Given the description of an element on the screen output the (x, y) to click on. 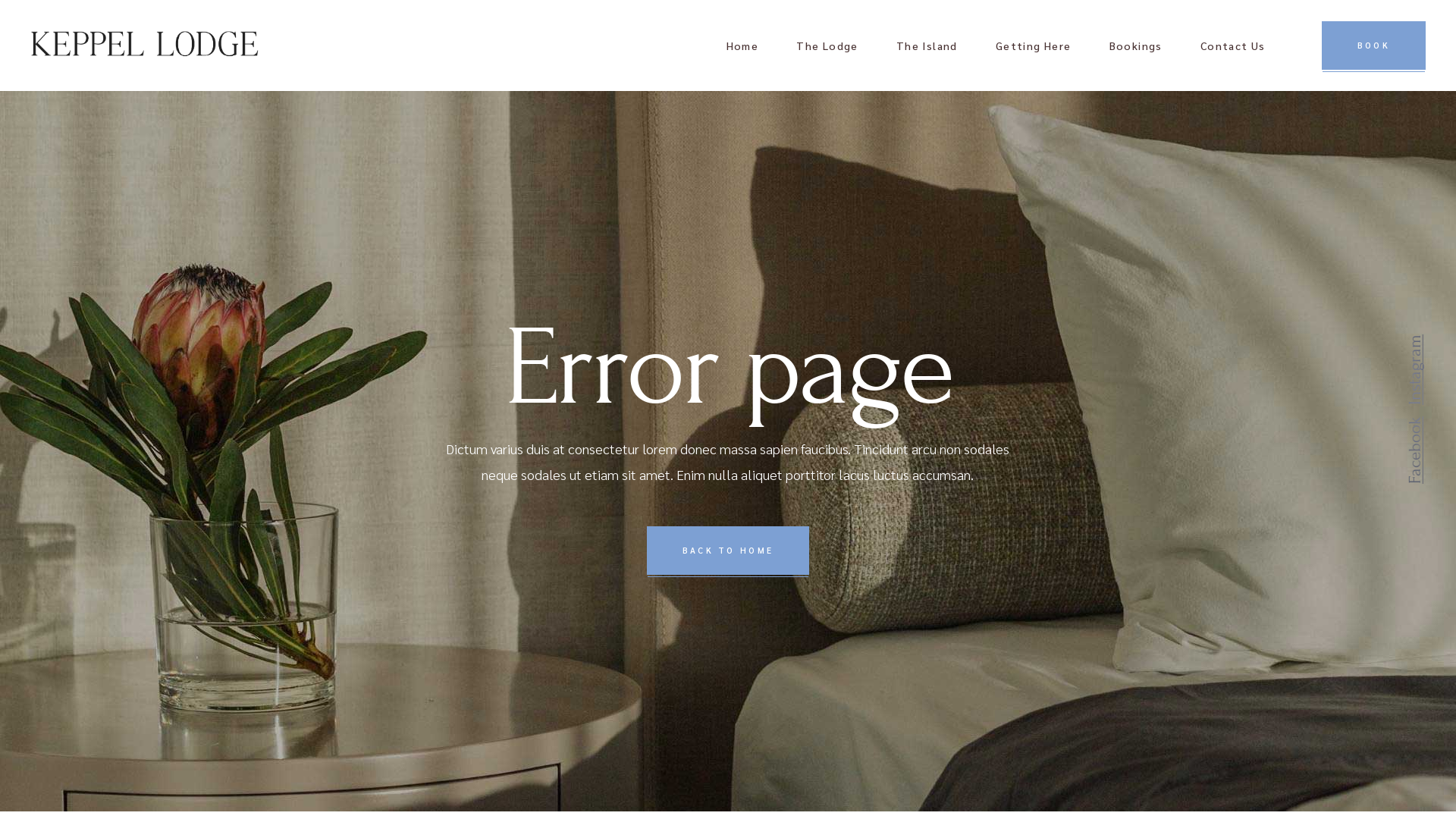
Home Element type: text (742, 45)
Getting Here Element type: text (1033, 45)
Bookings Element type: text (1135, 45)
The Island Element type: text (926, 45)
BACK TO HOME Element type: text (727, 550)
The Lodge Element type: text (827, 45)
Contact Us Element type: text (1232, 45)
BOOK Element type: text (1373, 45)
